Given the description of an element on the screen output the (x, y) to click on. 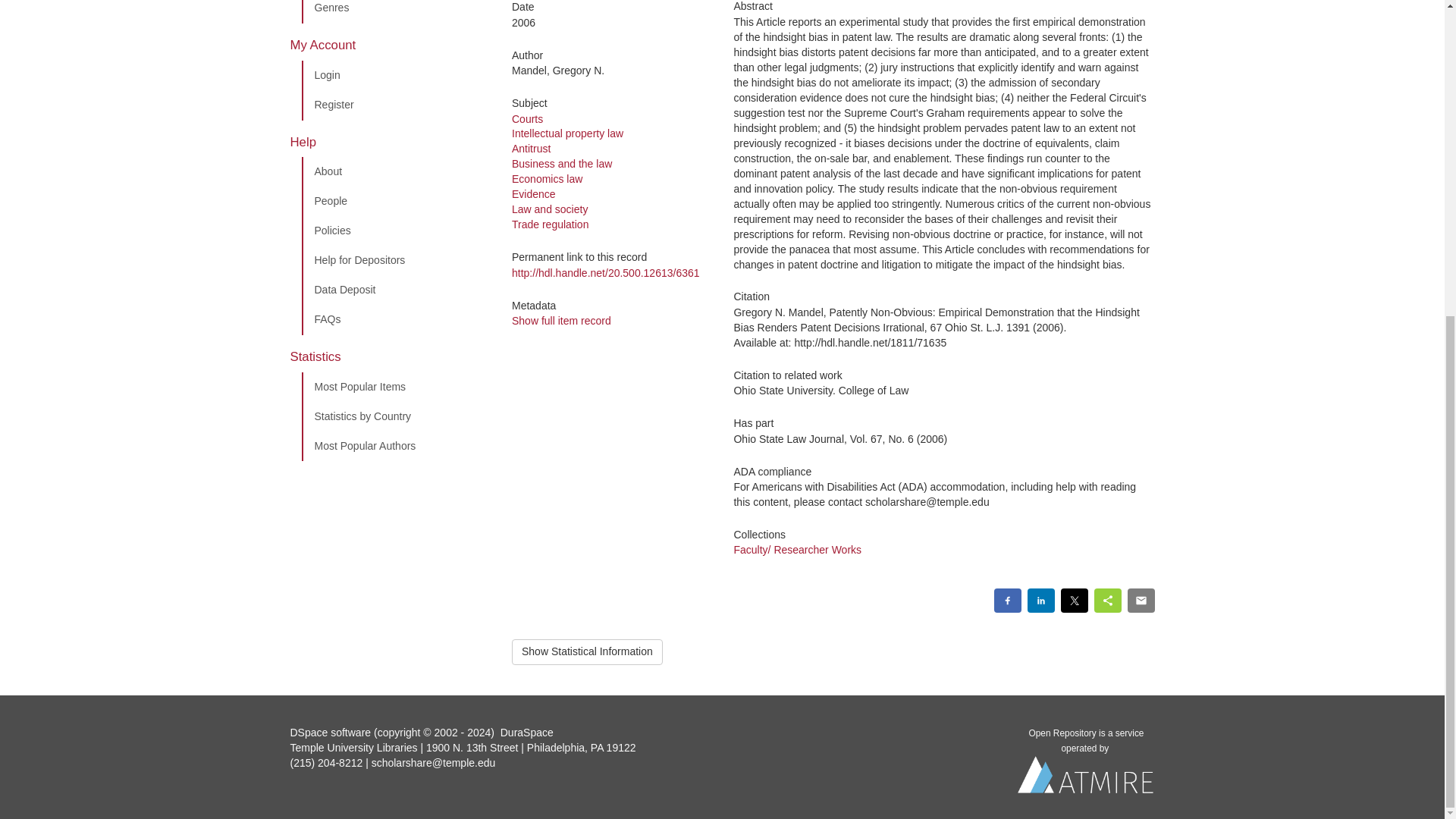
Genres (395, 11)
Most Popular Items (395, 387)
Atmire NV (1085, 778)
Most Popular Authors (395, 446)
FAQs (395, 319)
People (395, 201)
Policies (395, 231)
Statistics by Country (395, 417)
About (395, 172)
Login (395, 75)
Data Deposit (395, 290)
Help for Depositors (395, 260)
Register (395, 105)
